Given the description of an element on the screen output the (x, y) to click on. 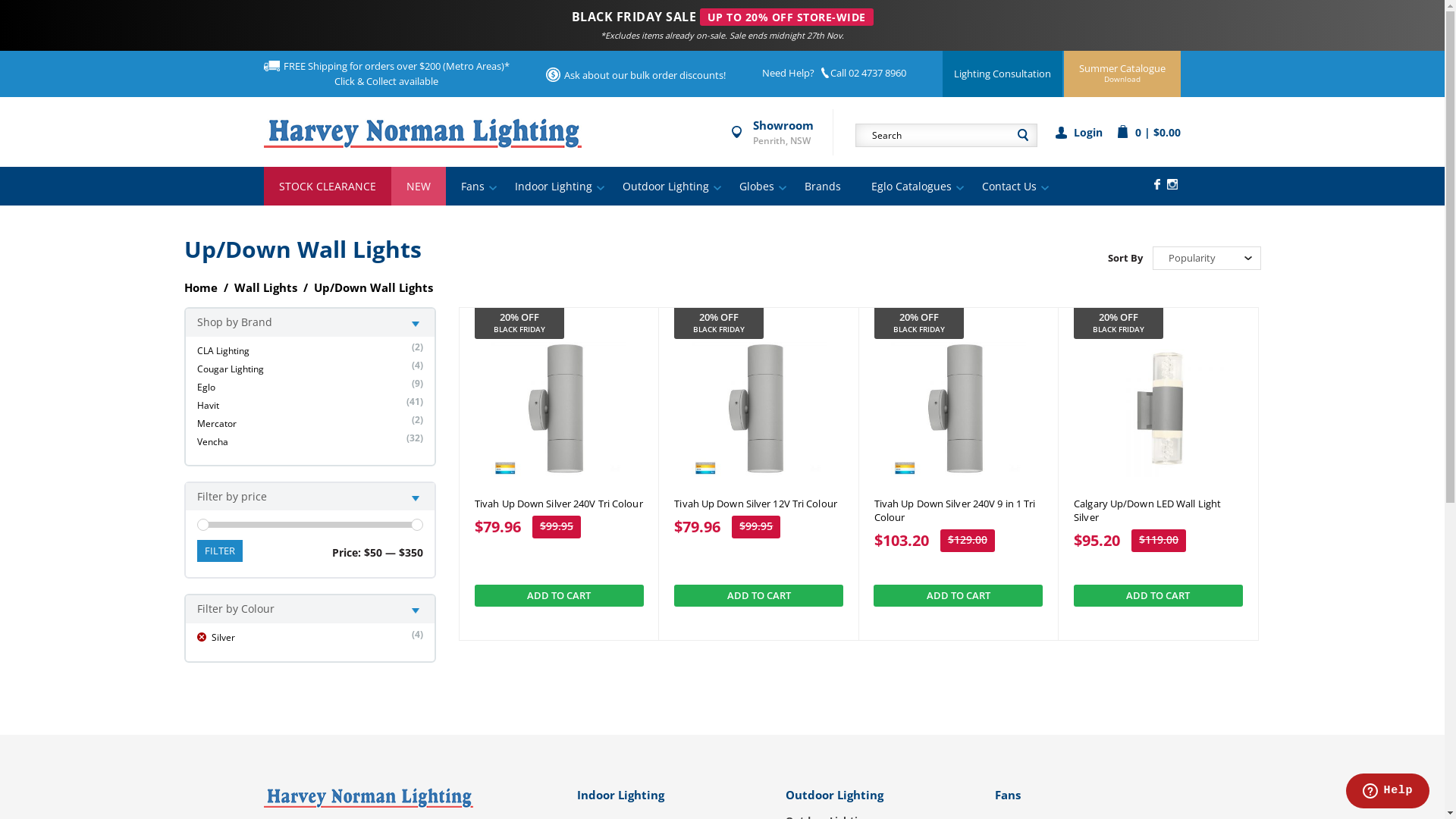
Outdoor Lighting Element type: text (664, 185)
Brands Element type: text (821, 185)
Cougar Lighting Element type: text (230, 368)
Showroom
Penrith, NSW Element type: text (783, 133)
Home Element type: text (199, 286)
sm--instagram Element type: text (1171, 183)
Wall Lights Element type: text (264, 286)
Eglo Element type: text (206, 386)
ADD TO CART Element type: text (957, 595)
0 | $0.00 Element type: text (1148, 131)
NEW Element type: text (418, 185)
Contact Us Element type: text (1008, 185)
Eglo Catalogues Element type: text (910, 185)
Summer Catalogue
Download Element type: text (1121, 73)
Lighting Consultation Element type: text (1002, 73)
Havit Element type: text (208, 404)
Login Element type: text (1078, 131)
ADD TO CART Element type: text (1157, 595)
Silver Element type: text (216, 637)
Indoor Lighting Element type: text (552, 185)
sm--facebook Element type: text (1157, 183)
CLA Lighting Element type: text (223, 350)
Ask about our bulk order discounts! Element type: text (644, 74)
ADD TO CART Element type: text (558, 595)
Opens a widget where you can find more information Element type: hover (1387, 792)
Mercator Element type: text (216, 423)
Globes Element type: text (755, 185)
Fans Element type: text (472, 185)
STOCK CLEARANCE Element type: text (327, 185)
ADD TO CART Element type: text (758, 595)
FILTER Element type: text (220, 550)
Vencha Element type: text (212, 441)
02 4737 8960 Element type: text (877, 72)
